Given the description of an element on the screen output the (x, y) to click on. 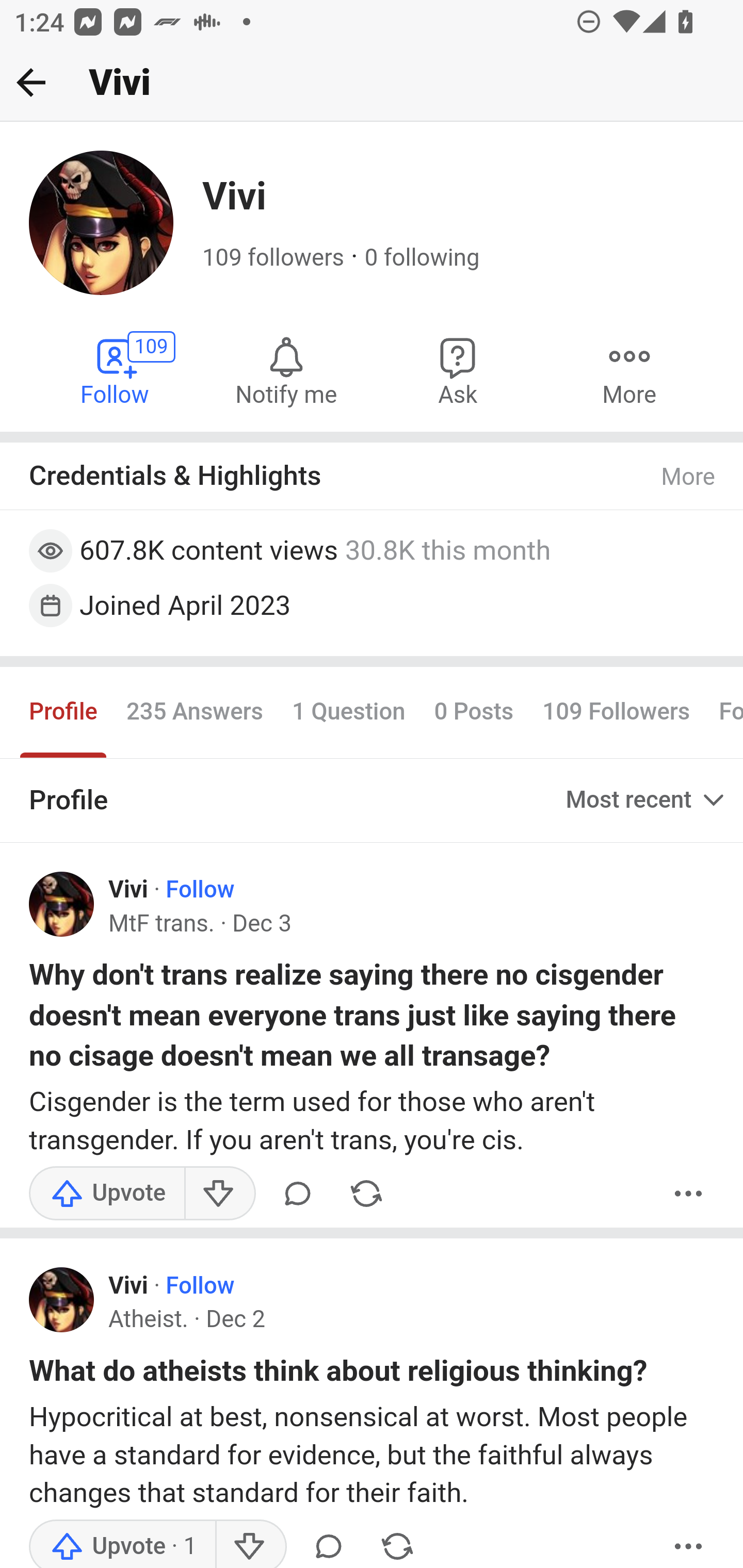
Back (30, 82)
109 followers (273, 257)
0 following (421, 257)
Follow Vivi 109 Follow (115, 370)
Notify me (285, 370)
Ask (458, 370)
More (628, 370)
More (688, 477)
Profile (63, 712)
235 Answers (193, 712)
1 Question (348, 712)
0 Posts (474, 712)
109 Followers (616, 712)
Most recent (647, 799)
Profile photo for Vivi (61, 903)
Vivi (127, 889)
Follow (199, 889)
Upvote (106, 1193)
Downvote (219, 1193)
Comment (297, 1193)
Share (366, 1193)
More (688, 1193)
Profile photo for Vivi (61, 1299)
Vivi (127, 1286)
Follow (199, 1286)
Upvote (122, 1543)
Downvote (249, 1543)
Comment (328, 1543)
Share (397, 1543)
More (688, 1543)
